Given the description of an element on the screen output the (x, y) to click on. 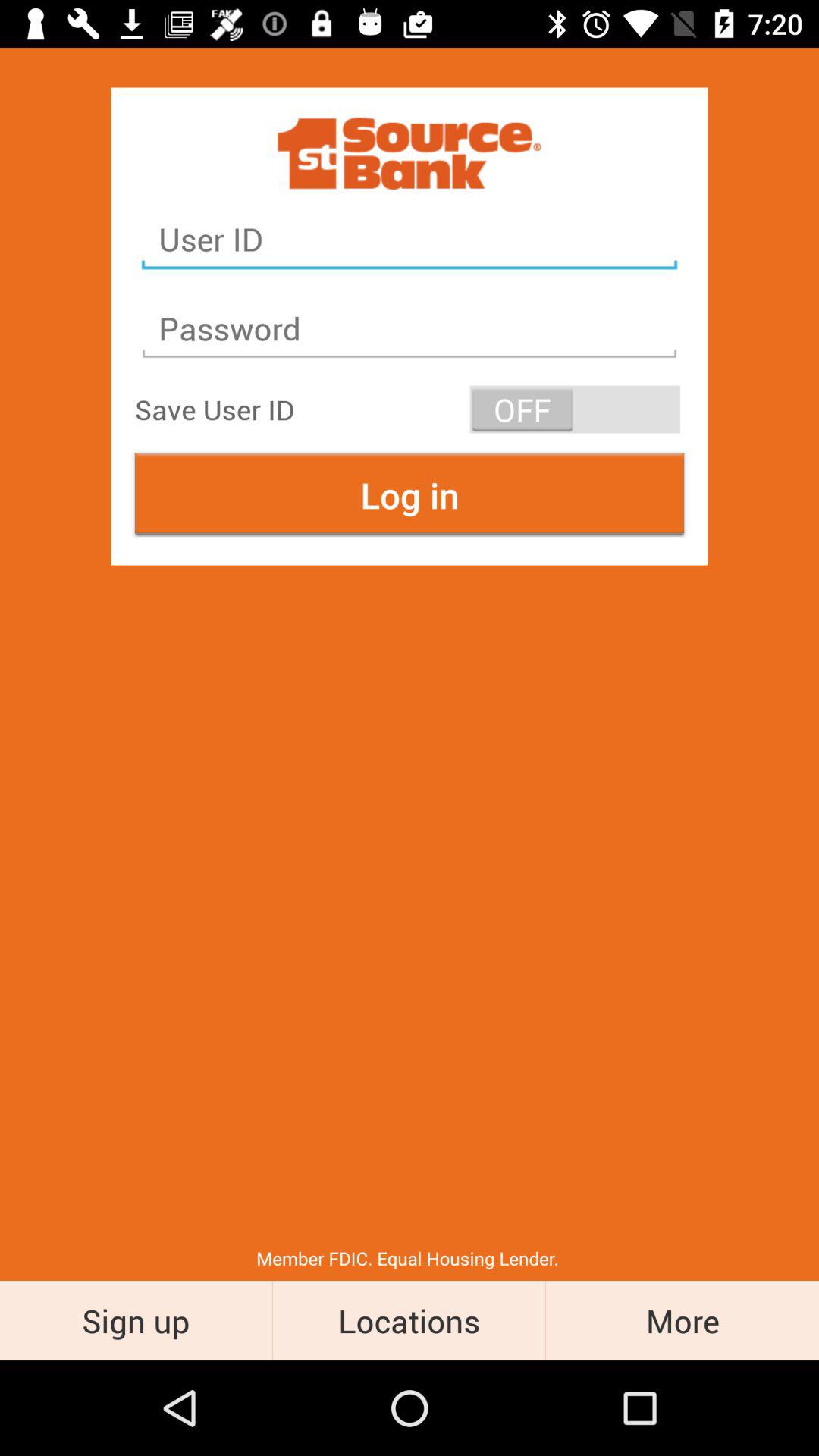
turn off the locations item (409, 1320)
